Given the description of an element on the screen output the (x, y) to click on. 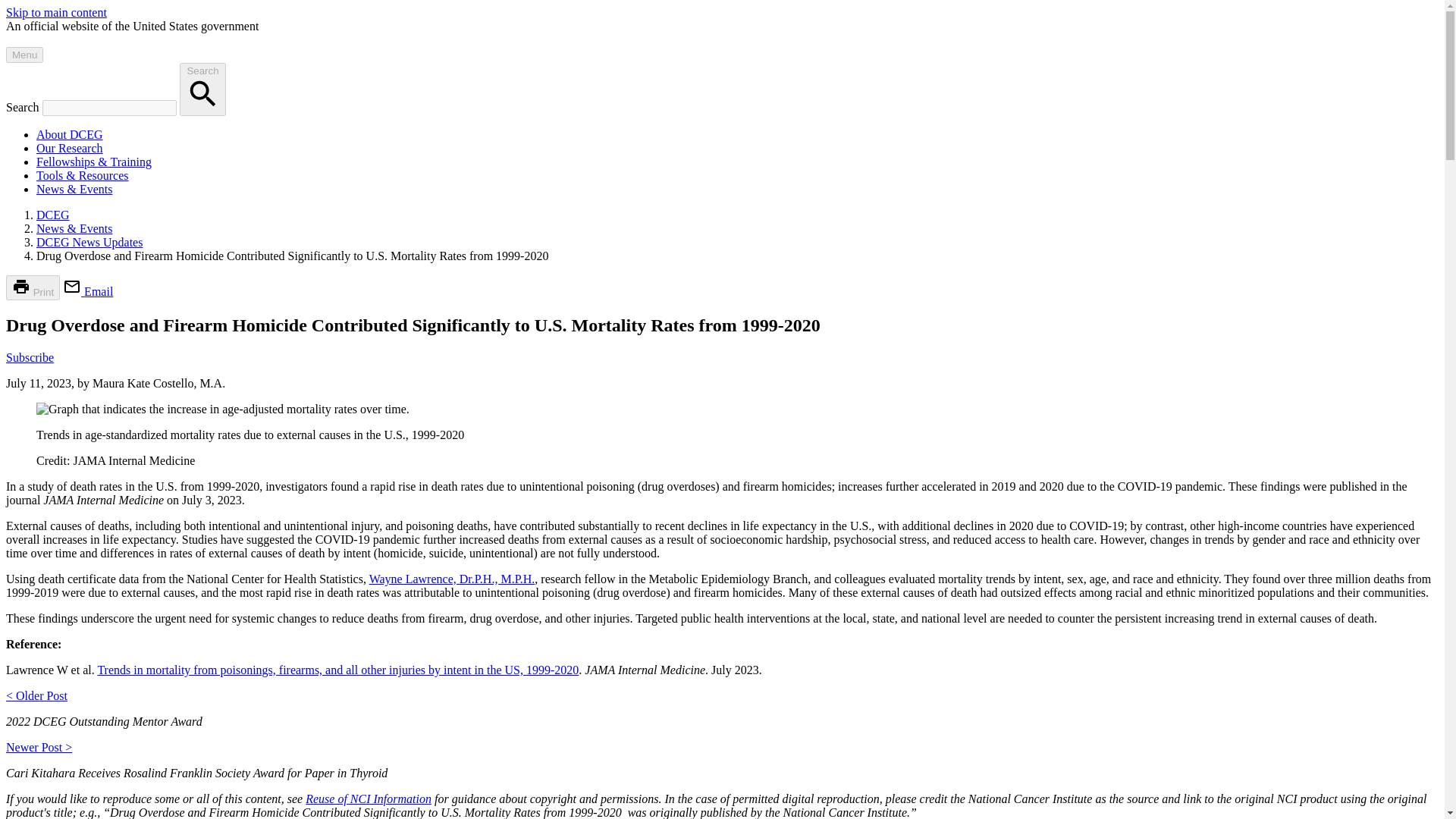
Our Research (69, 147)
Subscribe (29, 357)
Skip to main content (55, 11)
DCEG (52, 214)
Print (32, 287)
About DCEG (69, 133)
Wayne Lawrence, Dr.P.H., M.P.H. (452, 578)
DCEG News Updates (89, 241)
Menu (24, 54)
